Given the description of an element on the screen output the (x, y) to click on. 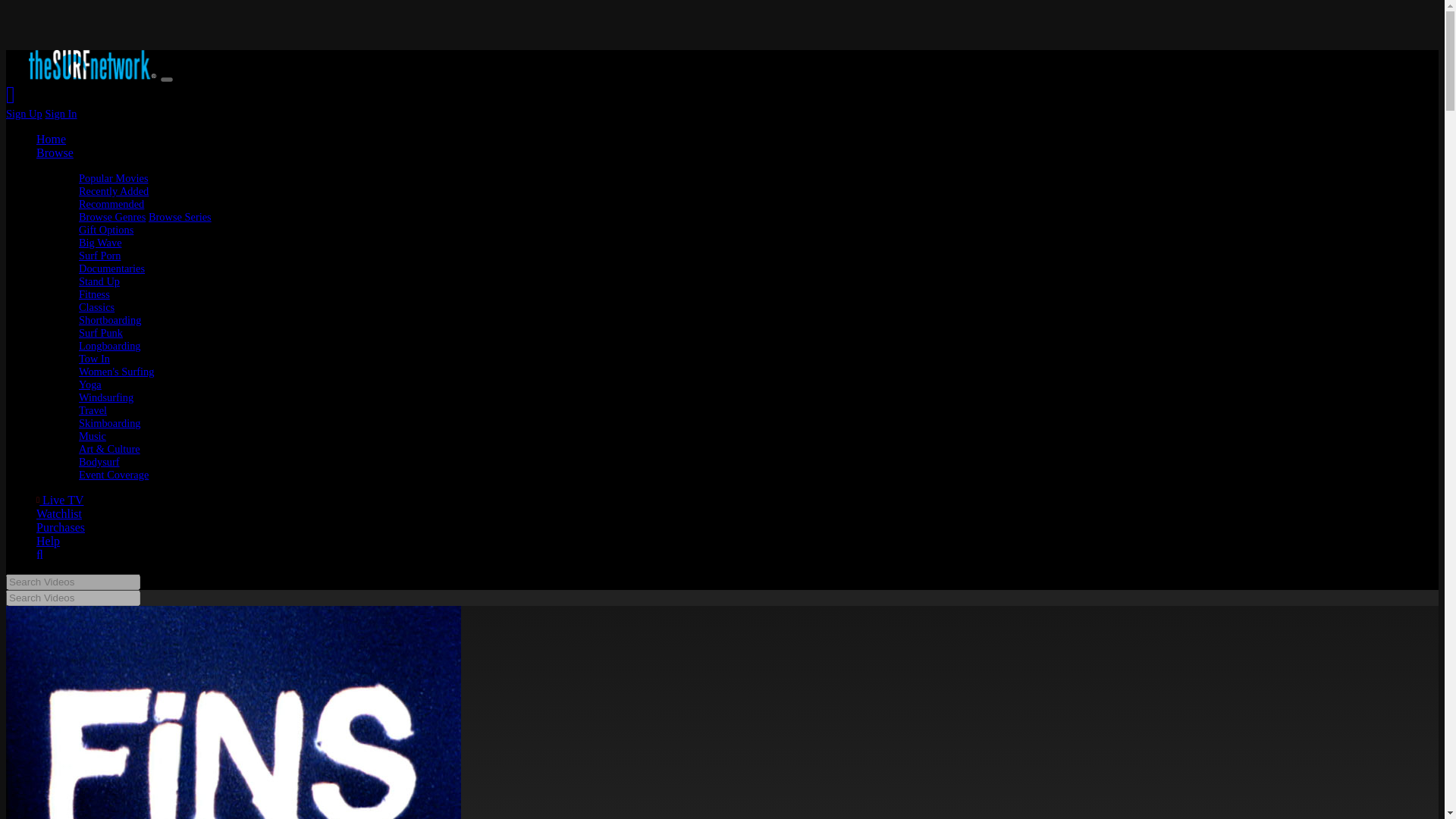
Travel (92, 410)
Help (47, 540)
Documentaries (111, 268)
Surf Punk (100, 332)
Skimboarding (109, 422)
Fitness (94, 294)
Classics (96, 306)
Yoga (89, 384)
Gift Options (105, 229)
Windsurfing (105, 397)
